Given the description of an element on the screen output the (x, y) to click on. 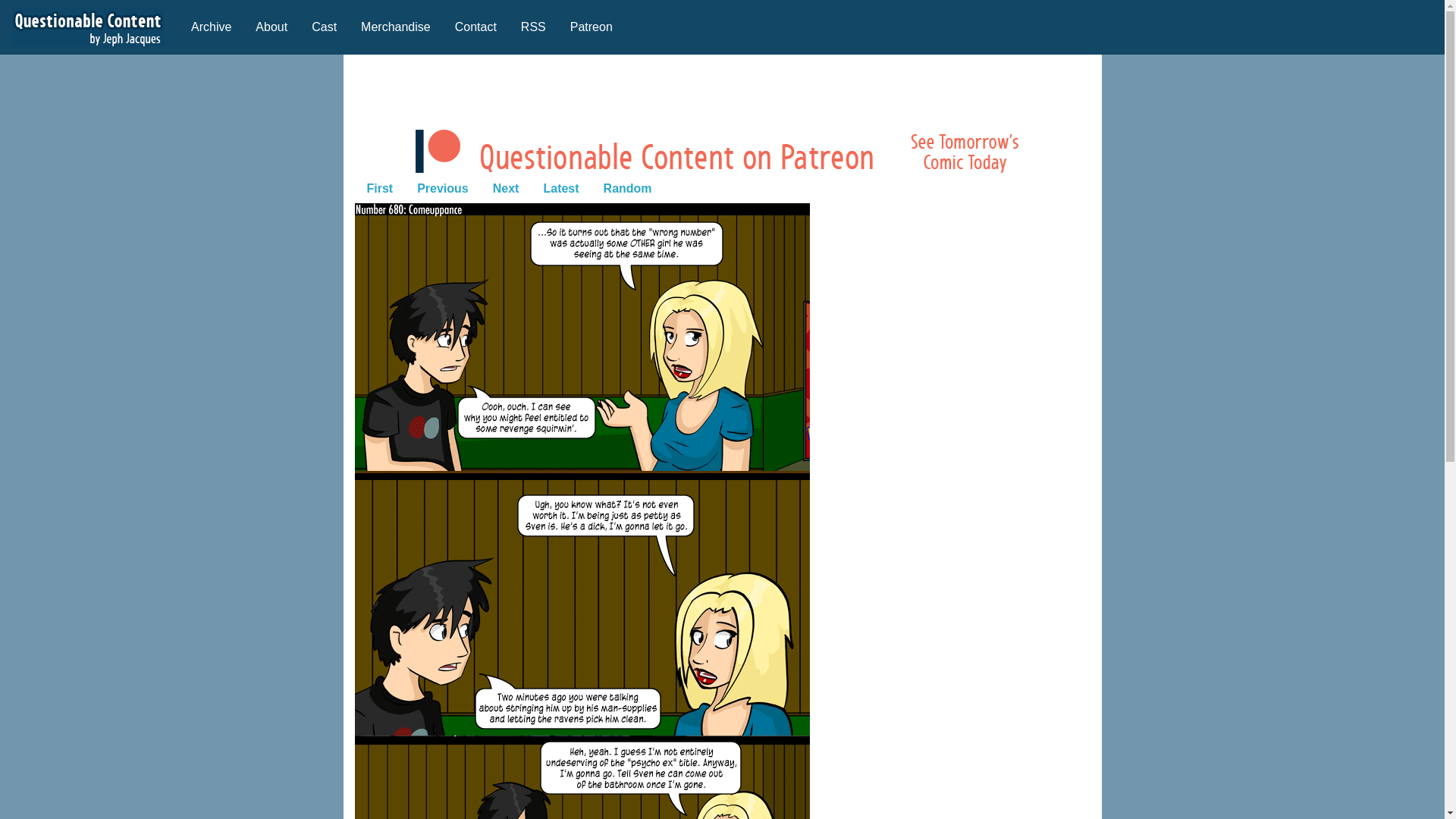
Merchandise (395, 27)
About (271, 27)
Archive (211, 27)
Contact (475, 27)
Cast (324, 27)
First (380, 187)
RSS (532, 27)
Latest (561, 187)
Next (505, 187)
Previous (442, 187)
Patreon (590, 27)
Random (627, 187)
